Given the description of an element on the screen output the (x, y) to click on. 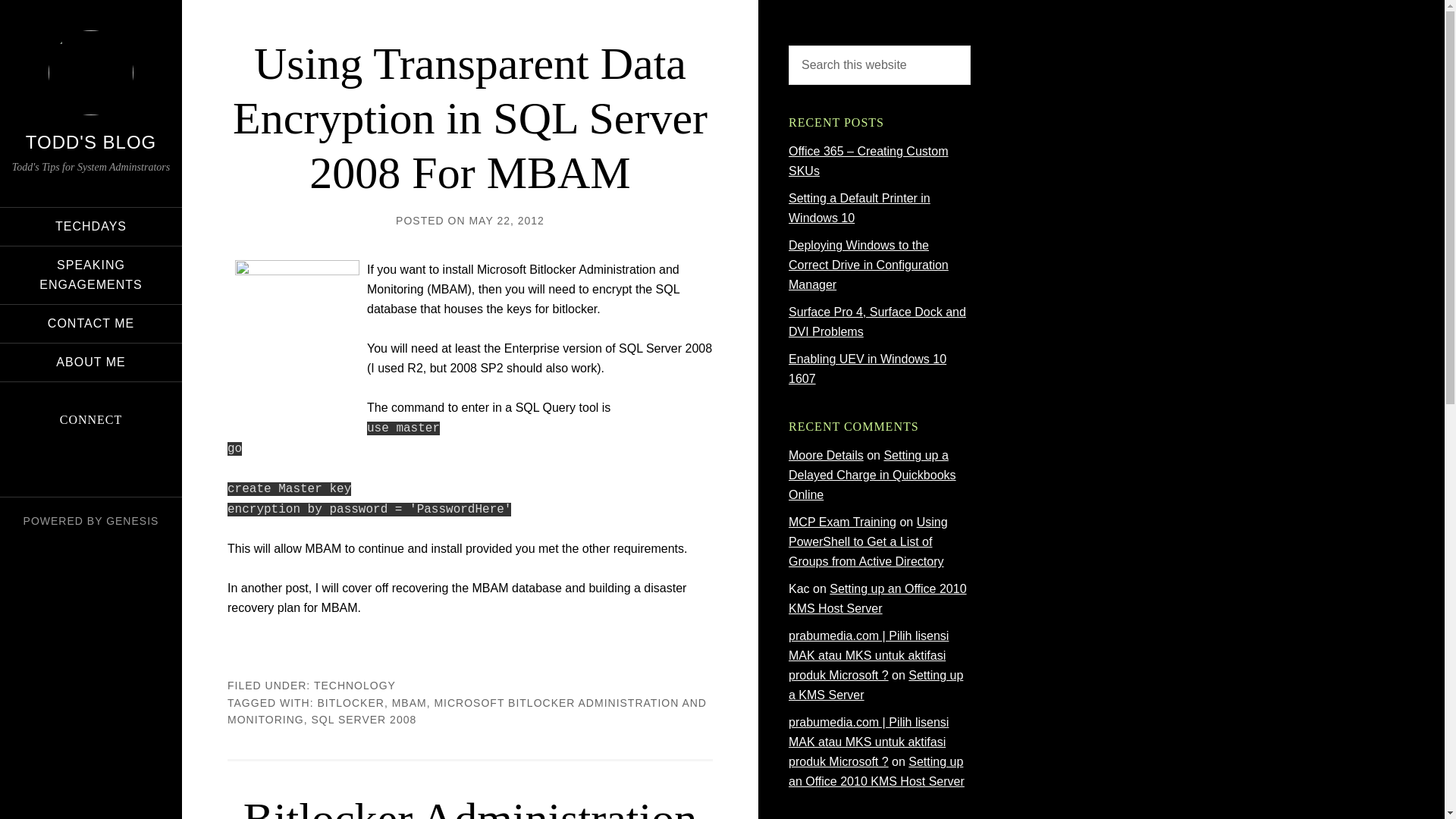
BITLOCKER (350, 702)
Bitlocker Administration and Monitoring Registry Edit (470, 806)
Setting up a Delayed Charge in Quickbooks Online (872, 474)
SQL SERVER 2008 (363, 719)
GENESIS (132, 521)
Setting up an Office 2010 KMS Host Server (876, 771)
Surface Pro 4, Surface Dock and DVI Problems (877, 321)
Setting a Default Printer in Windows 10 (859, 207)
Moore Details (826, 454)
